Given the description of an element on the screen output the (x, y) to click on. 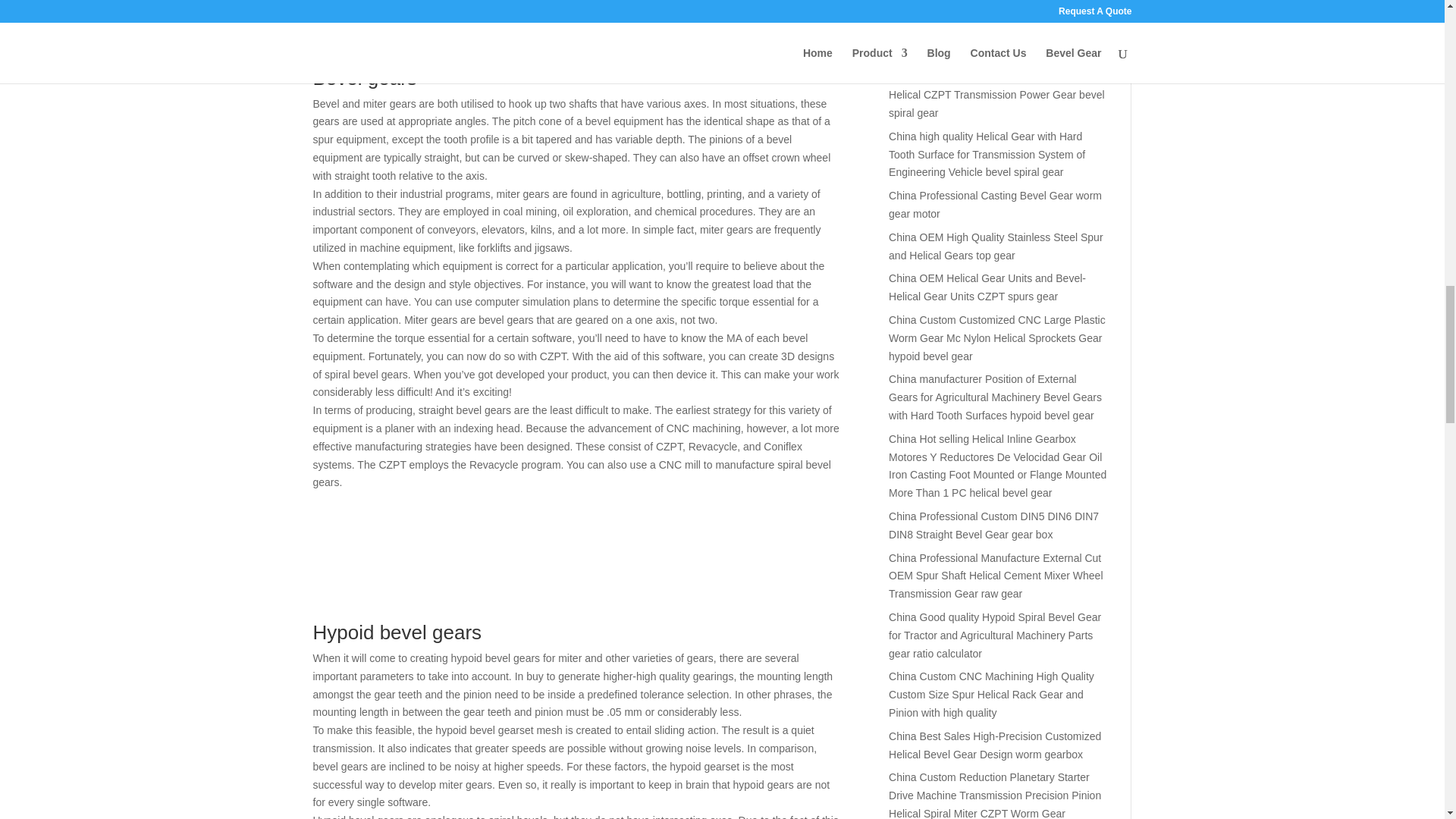
China Professional Casting Bevel Gear worm gear motor (995, 204)
